Given the description of an element on the screen output the (x, y) to click on. 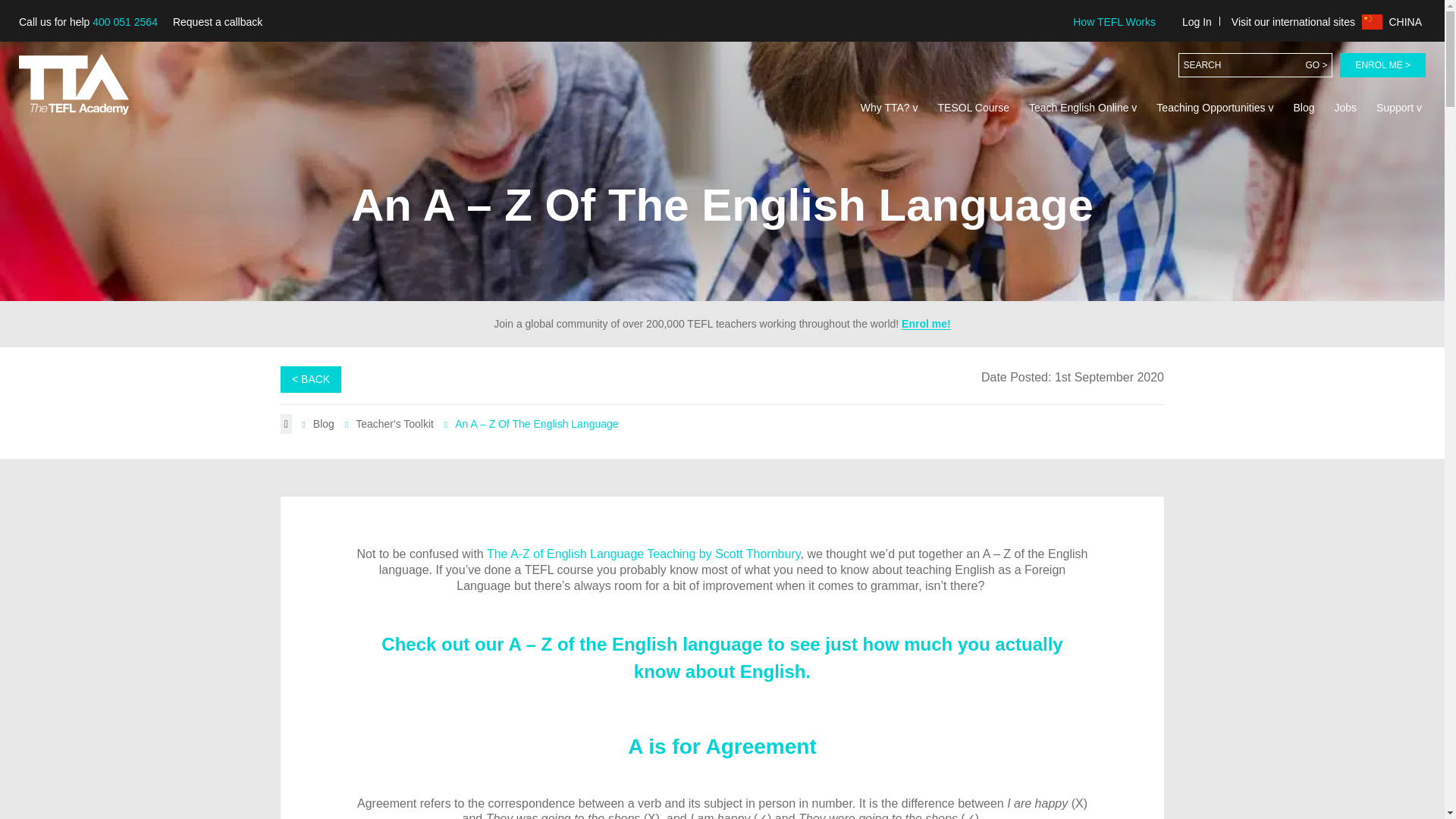
Request a callback (217, 22)
Why TTA? v (889, 107)
How TEFL Works (1113, 20)
Log In (1196, 20)
TESOL Course (973, 107)
Teach English Online v (1082, 107)
Request a callback (217, 22)
Why TTA? (889, 107)
How TEFL Works (1113, 20)
Visit our international sites CHINA (1326, 20)
